Given the description of an element on the screen output the (x, y) to click on. 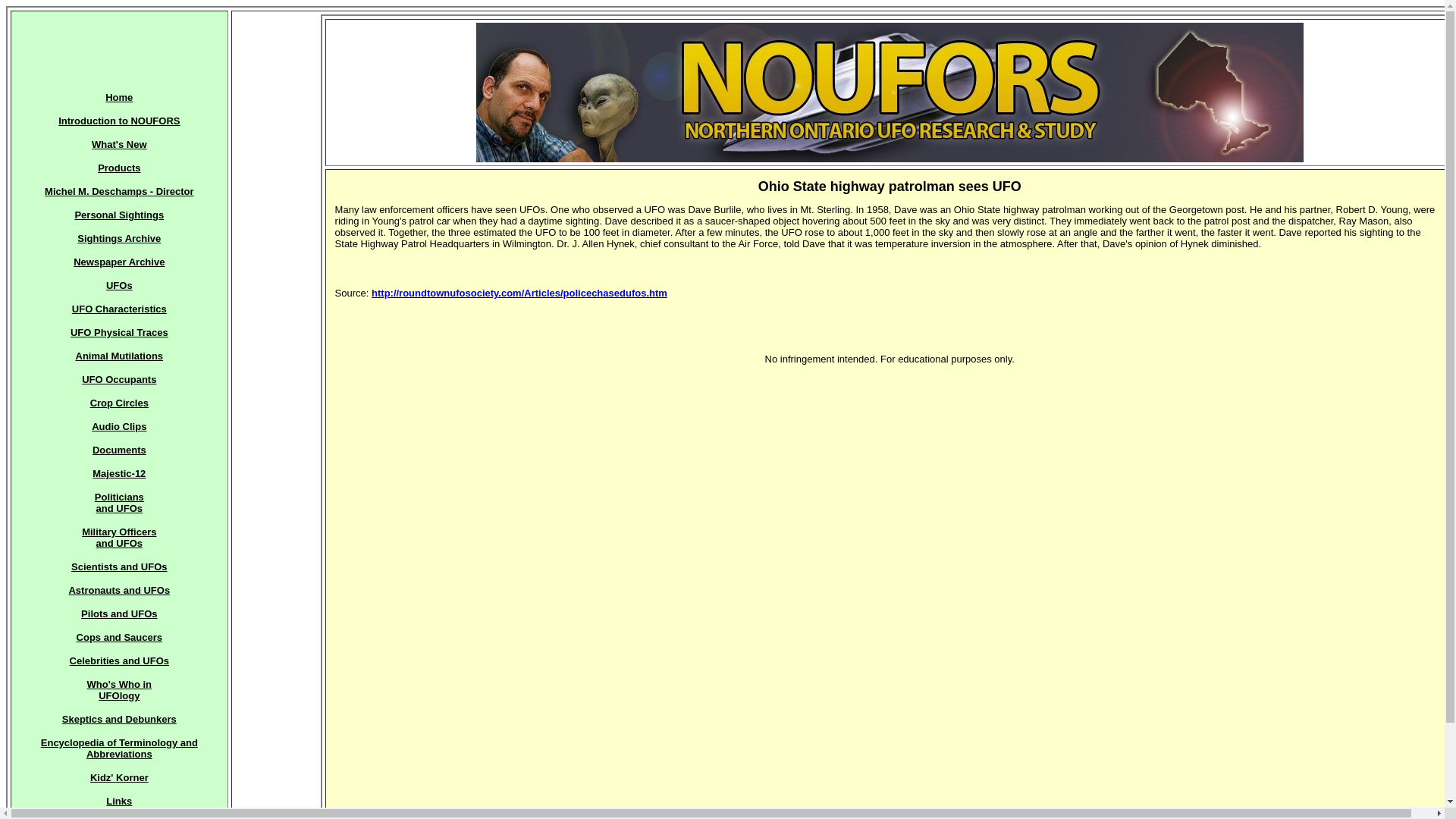
Crop Circles (118, 537)
Celebrities and UFOs (119, 402)
UFO Occupants (118, 660)
Newspaper Archive (118, 378)
Documents (119, 261)
UFOs (120, 449)
Skeptics and Debunkers (119, 285)
Michel M. Deschamps - Director (119, 718)
Audio Clips (119, 191)
